Given the description of an element on the screen output the (x, y) to click on. 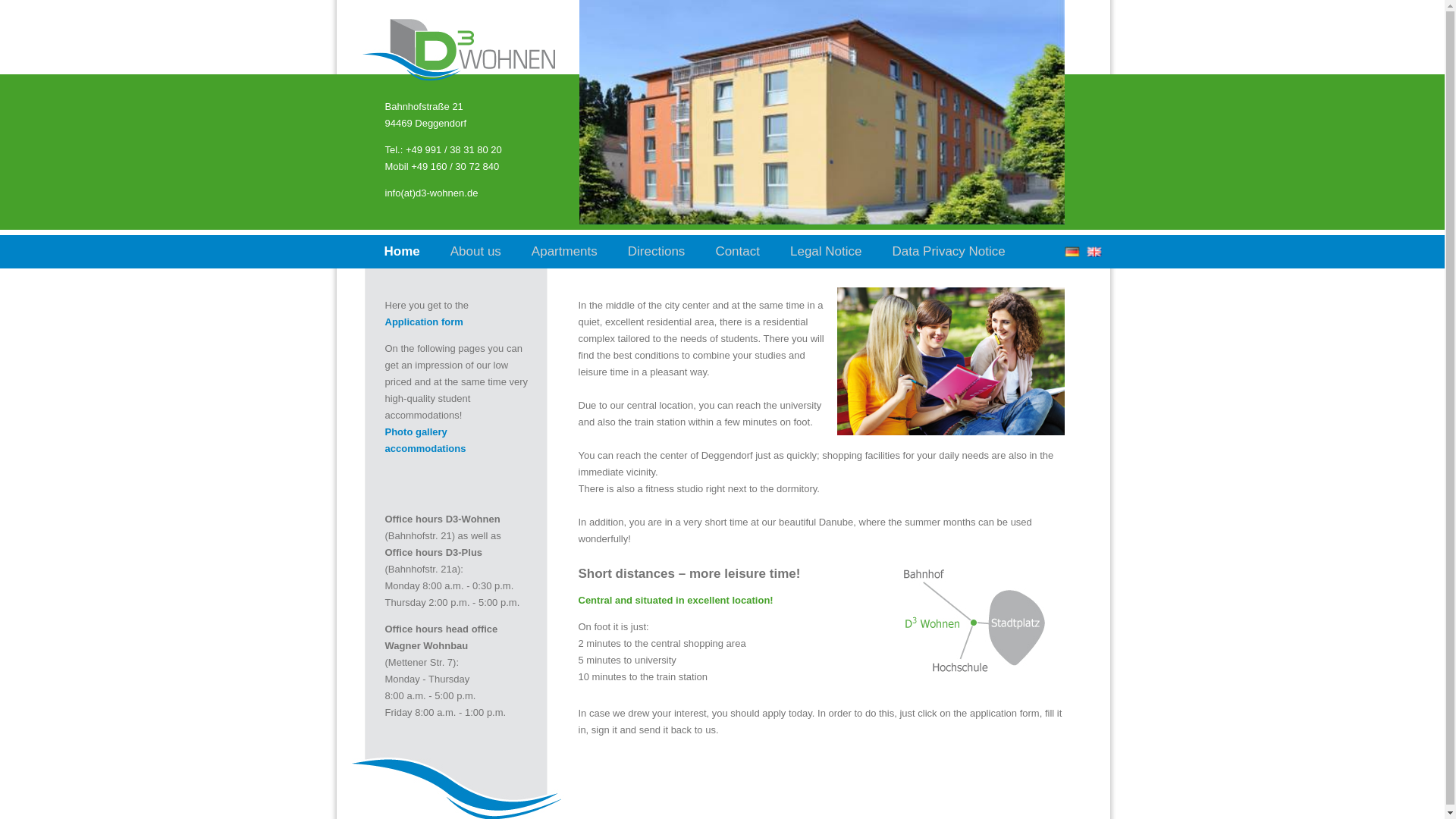
Directions (656, 251)
German (1071, 253)
Contact (737, 251)
Schreiben Sie uns! (432, 193)
English (1091, 253)
Home (401, 251)
Opens internal link in current window (425, 439)
Photo gallery accommodations (425, 439)
Legal Notice (825, 251)
Apartments (563, 251)
